Given the description of an element on the screen output the (x, y) to click on. 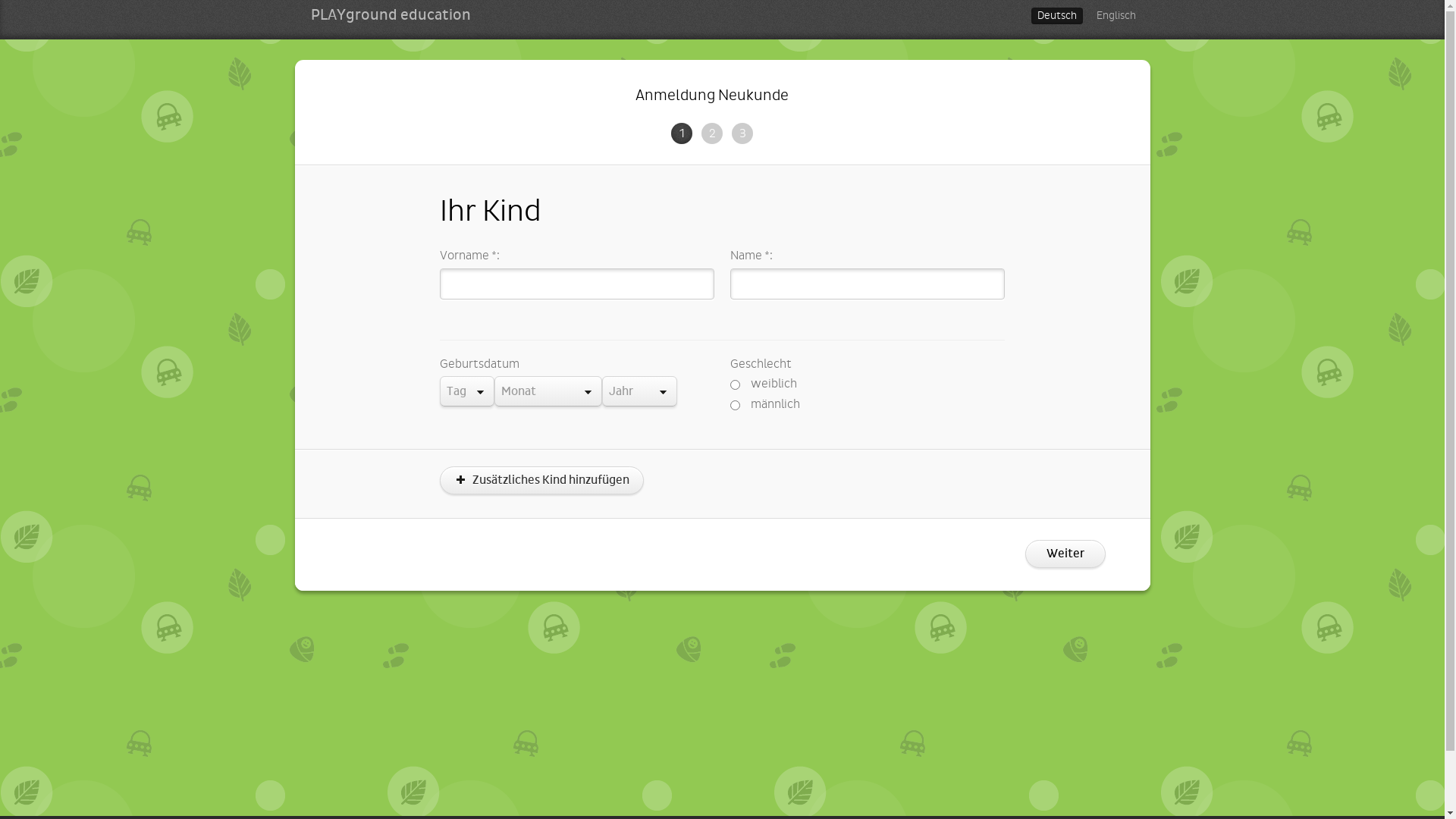
Englisch Element type: text (1116, 15)
Weiter Element type: text (1065, 553)
Tag Element type: text (466, 391)
Jahr Element type: text (639, 391)
Monat Element type: text (547, 391)
Deutsch Element type: text (1056, 15)
PLAYground education Element type: text (390, 14)
